Given the description of an element on the screen output the (x, y) to click on. 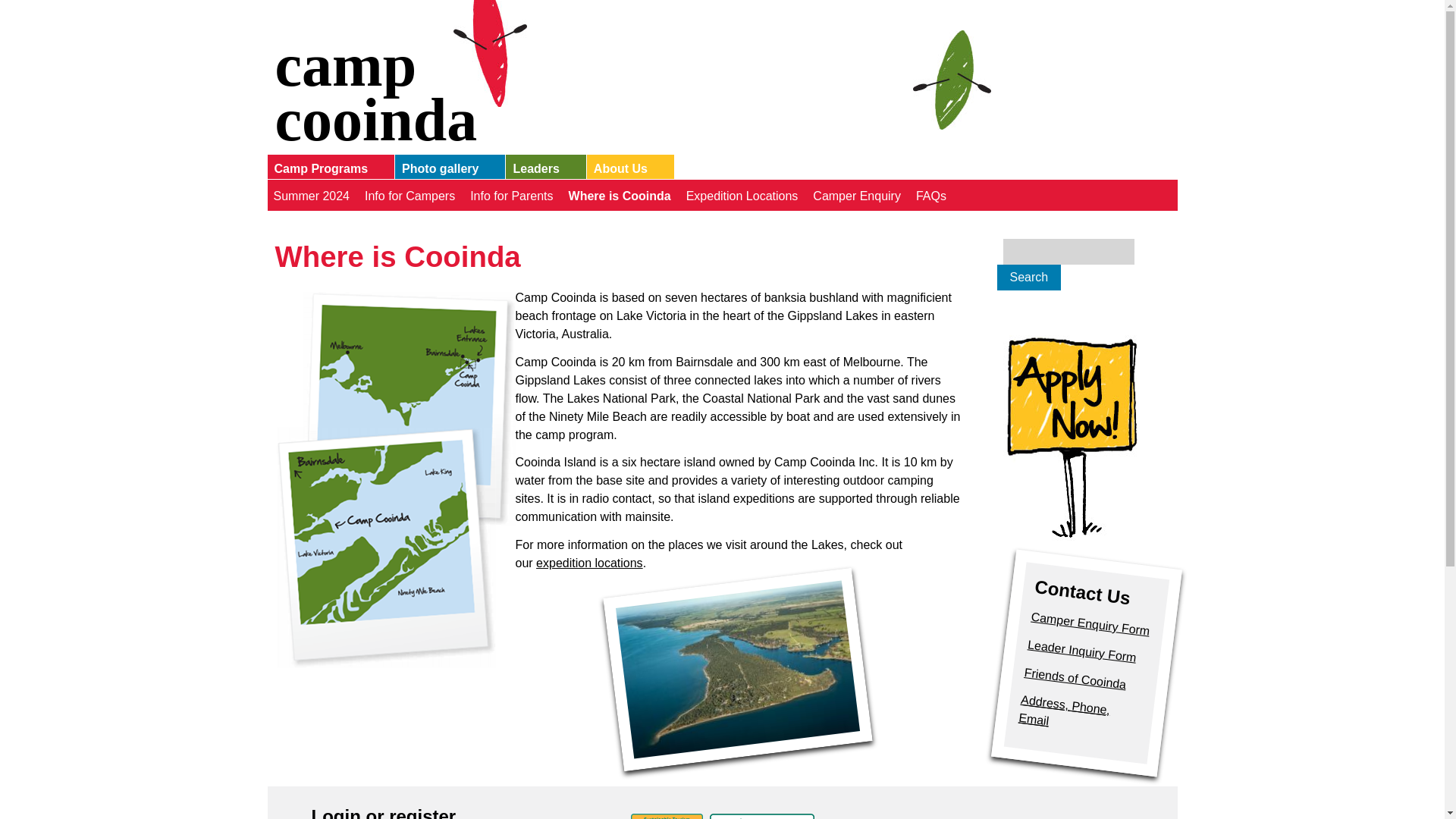
About Us (626, 169)
FAQs (928, 194)
Photo gallery (445, 169)
Leader Inquiry Form (1080, 644)
Enter the terms you wish to search for. (1068, 251)
Search (1028, 277)
Information for Campers (407, 194)
Frequently Asked Questions (928, 194)
Search (1028, 277)
Apply now for summer camp! (1070, 437)
